Given the description of an element on the screen output the (x, y) to click on. 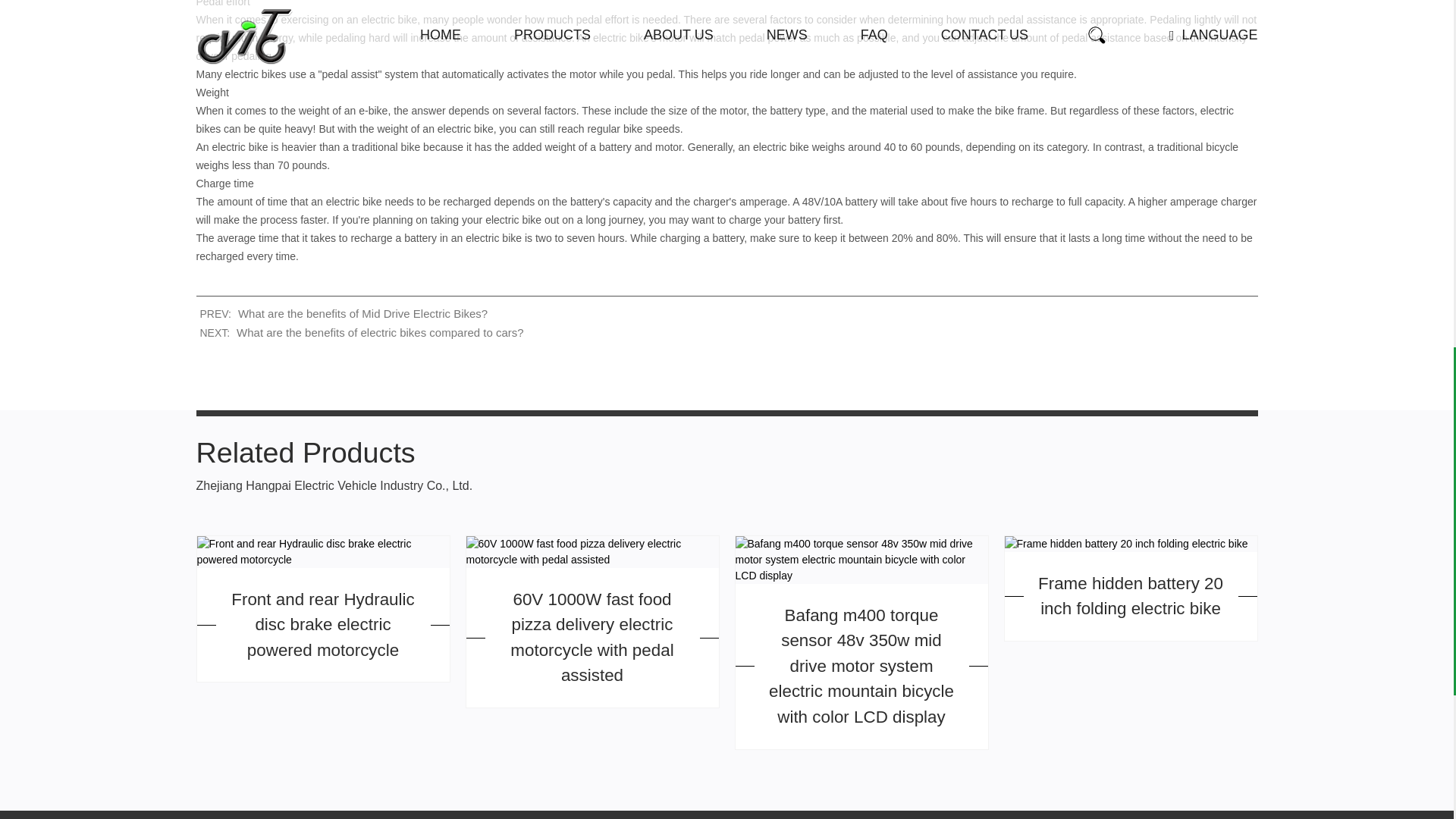
Frame hidden battery 20 inch folding electric bike (1125, 544)
